Given the description of an element on the screen output the (x, y) to click on. 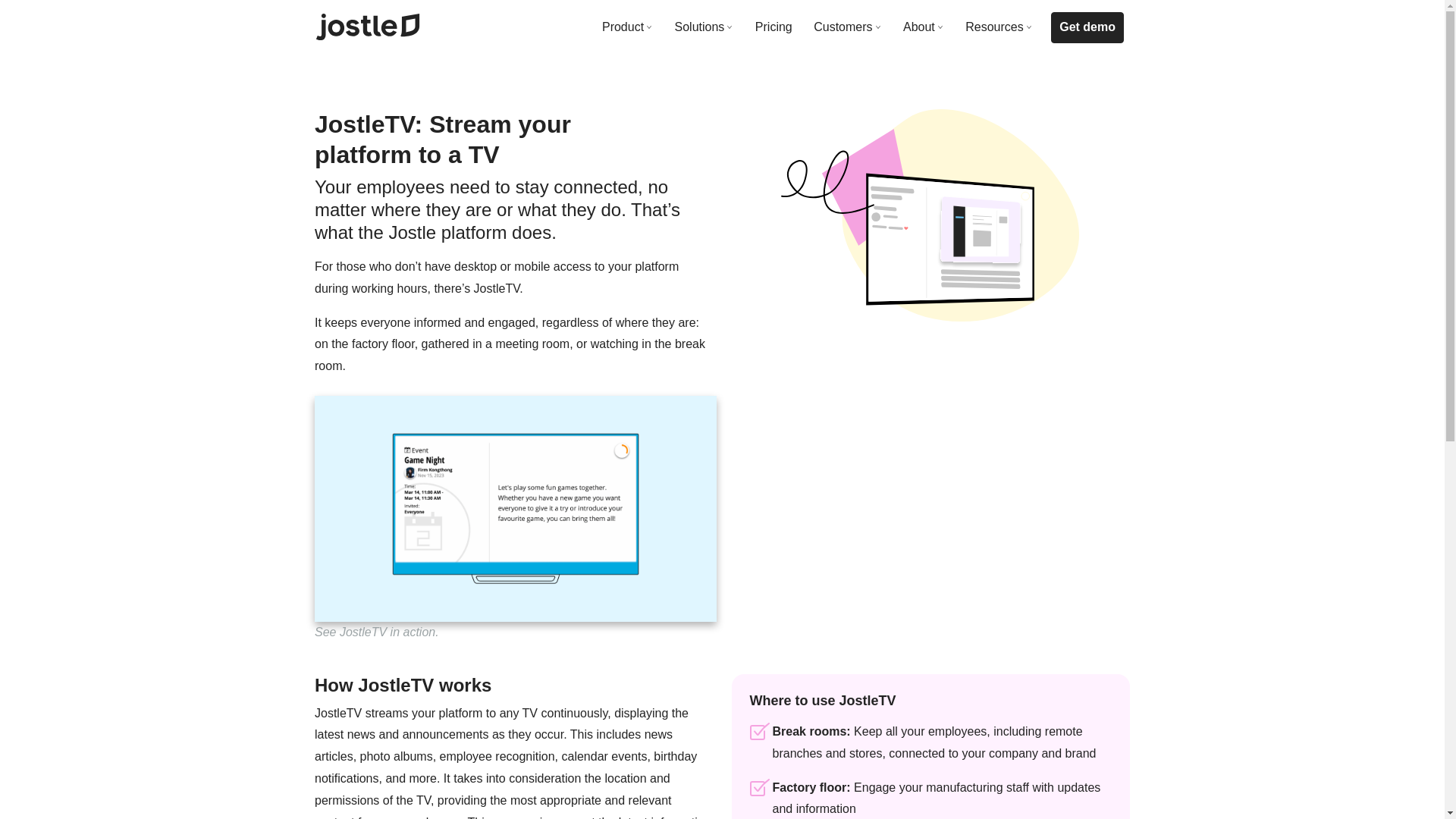
Customers (846, 27)
About (923, 27)
Solutions (703, 27)
Pricing (773, 27)
Product (627, 27)
Get demo (1087, 27)
Resources (998, 27)
